Given the description of an element on the screen output the (x, y) to click on. 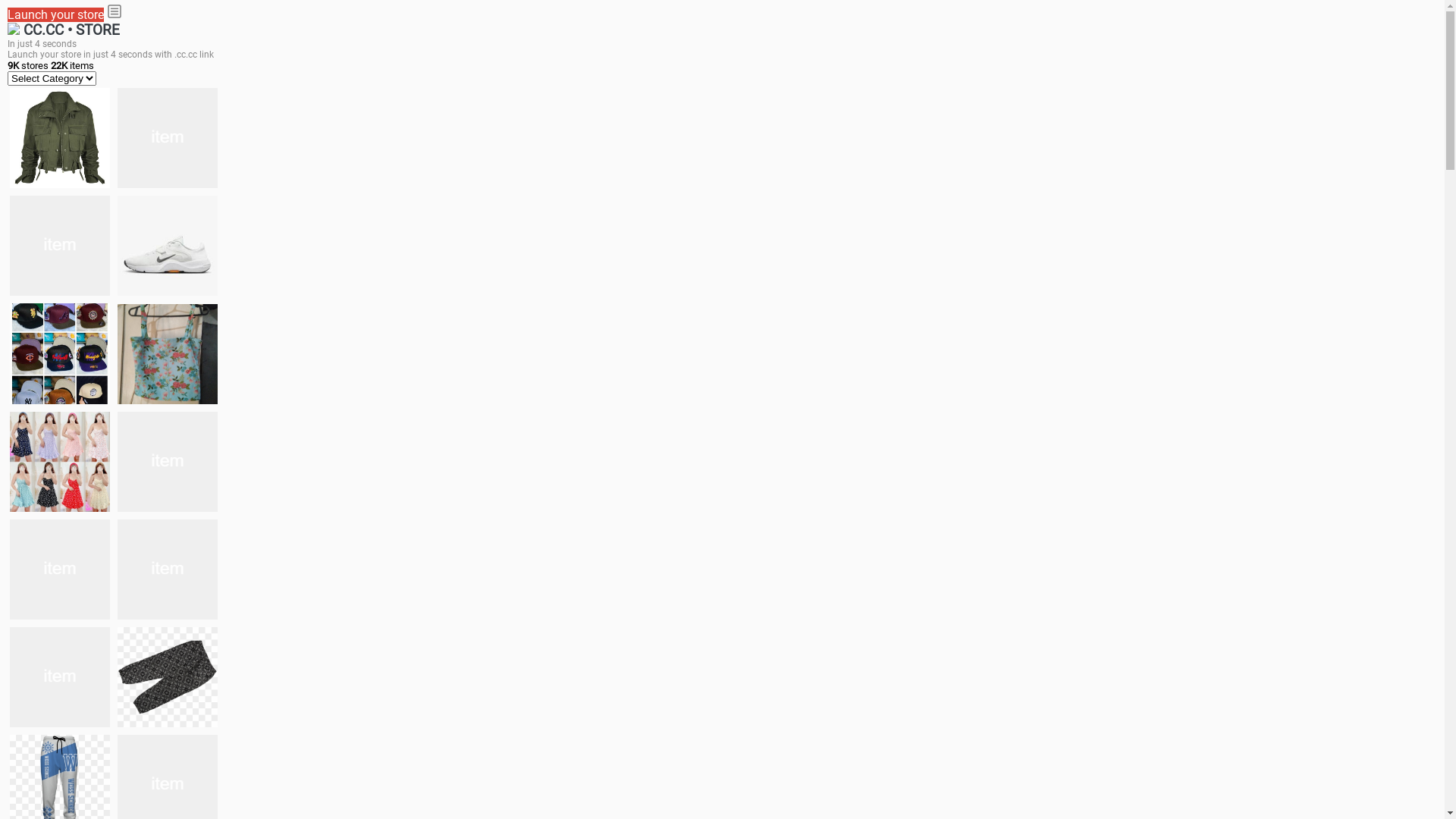
shoes for boys Element type: hover (59, 245)
Dress/square nect top Element type: hover (59, 461)
jacket Element type: hover (59, 137)
Shoes for boys Element type: hover (167, 245)
white shoes Element type: hover (167, 137)
Shoes Element type: hover (167, 461)
Short pant Element type: hover (167, 676)
Zapatillas Element type: hover (59, 677)
Launch your store Element type: text (55, 14)
Things we need Element type: hover (59, 353)
Ukay cloth Element type: hover (167, 353)
Zapatillas pumas Element type: hover (167, 568)
